Given the description of an element on the screen output the (x, y) to click on. 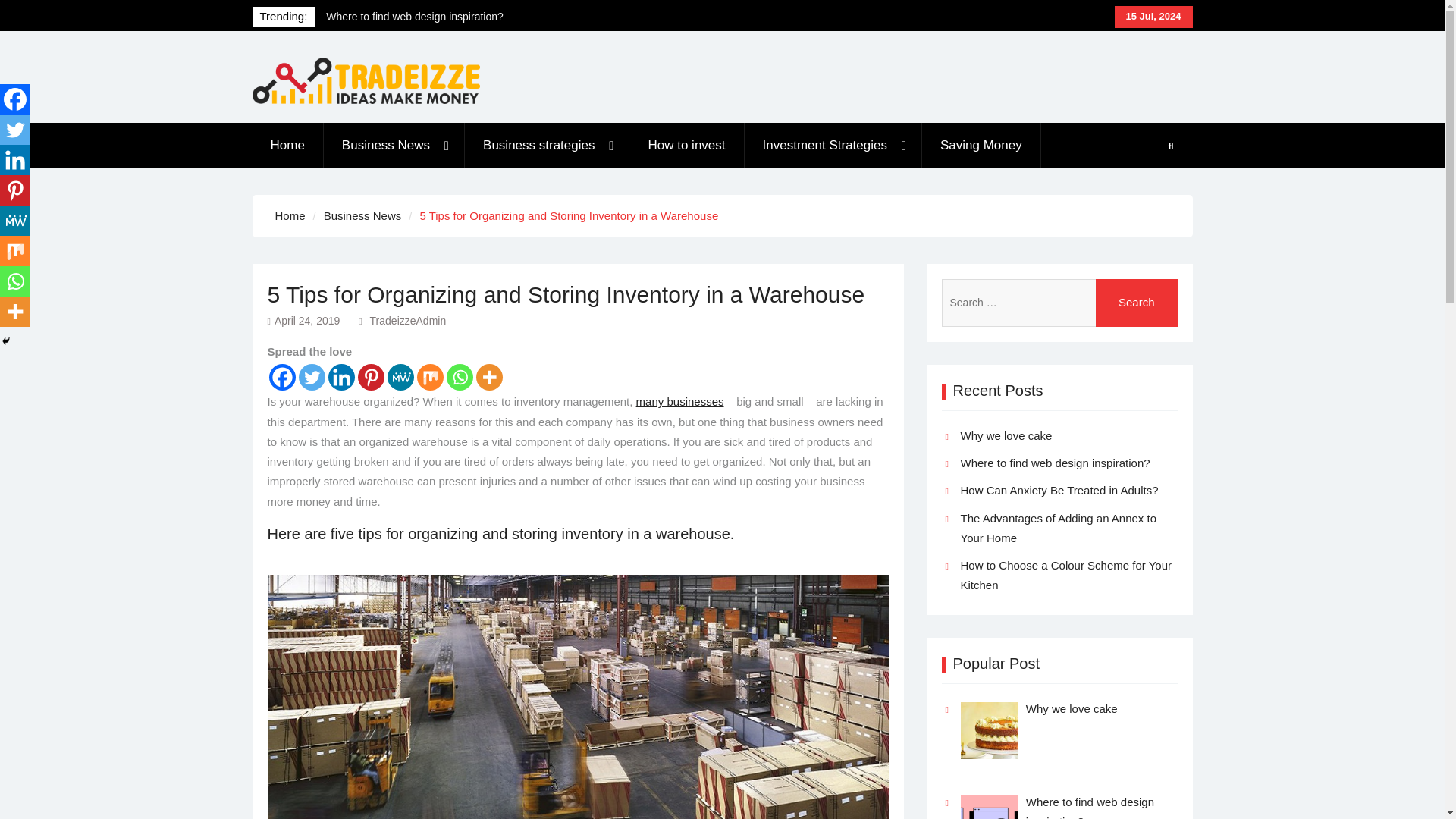
How to invest (686, 145)
Investment Strategies (832, 145)
Twitter (15, 129)
TradeizzeAdmin (407, 320)
Business News (362, 215)
Search (1136, 303)
More (489, 376)
Where to find web design inspiration? (428, 16)
Pinterest (15, 190)
Saving Money (981, 145)
Facebook (281, 376)
Twitter (311, 376)
Whatsapp (458, 376)
Home (287, 145)
MeWe (15, 220)
